Given the description of an element on the screen output the (x, y) to click on. 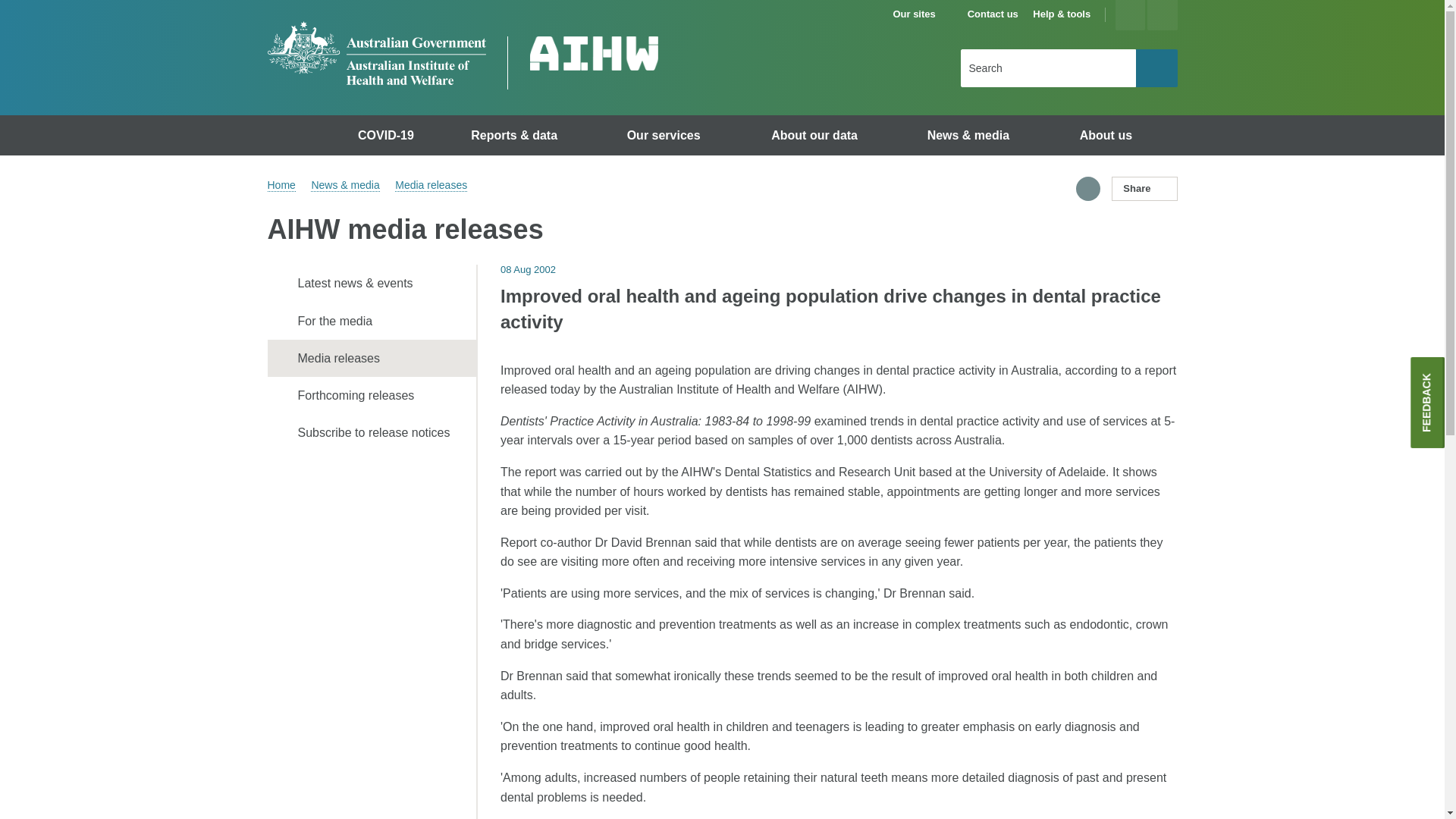
COVID-19 (388, 135)
Contact us (992, 14)
Our sites (921, 14)
Decrease text size (1162, 15)
Search (1156, 67)
Australian Institute of Health and Welfare (375, 53)
Increase text size (1130, 15)
